Given the description of an element on the screen output the (x, y) to click on. 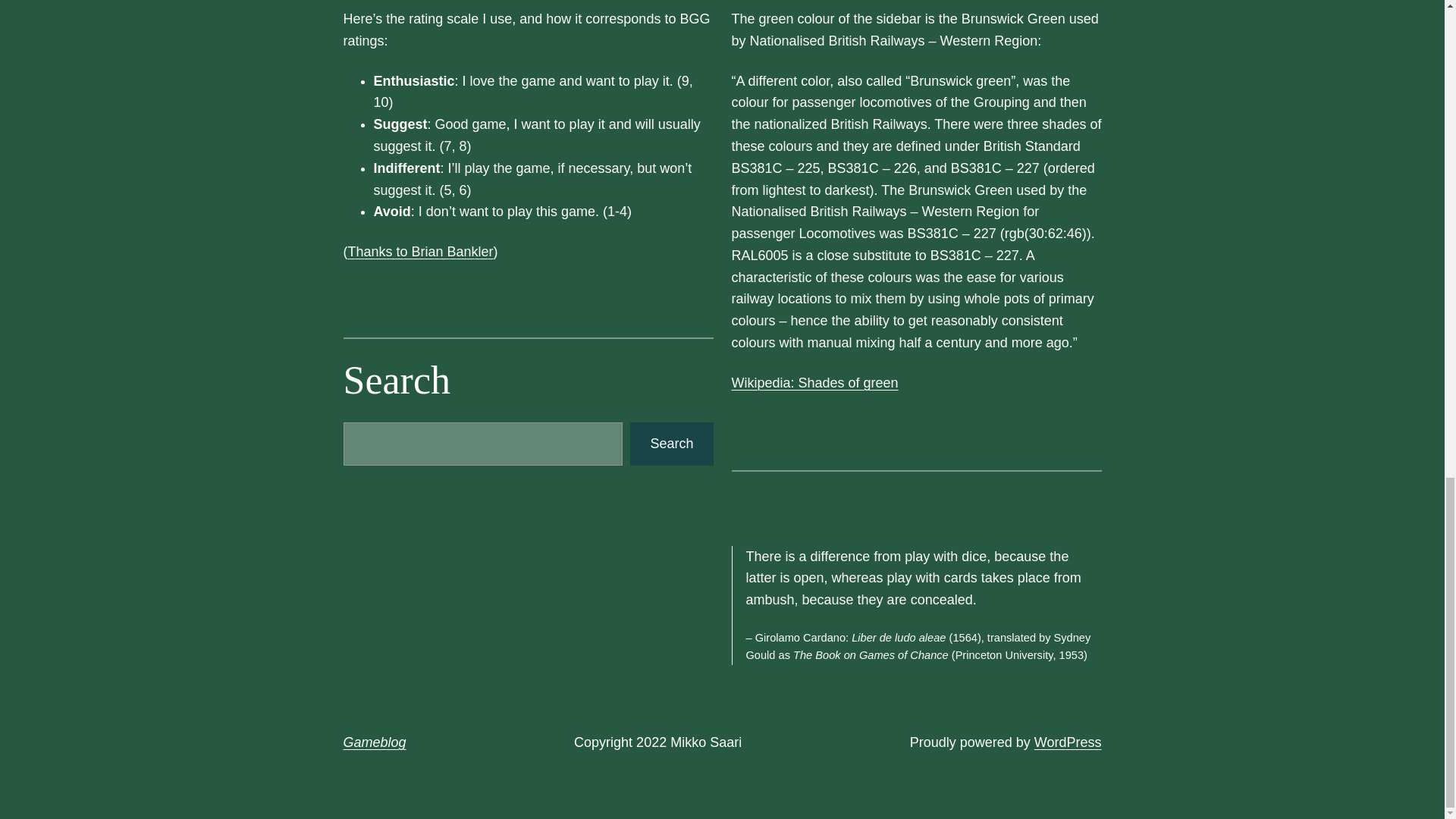
Gameblog (374, 742)
Wikipedia: Shades of green (814, 382)
WordPress (1067, 742)
Thanks to Brian Bankler (420, 251)
Search (671, 444)
